Given the description of an element on the screen output the (x, y) to click on. 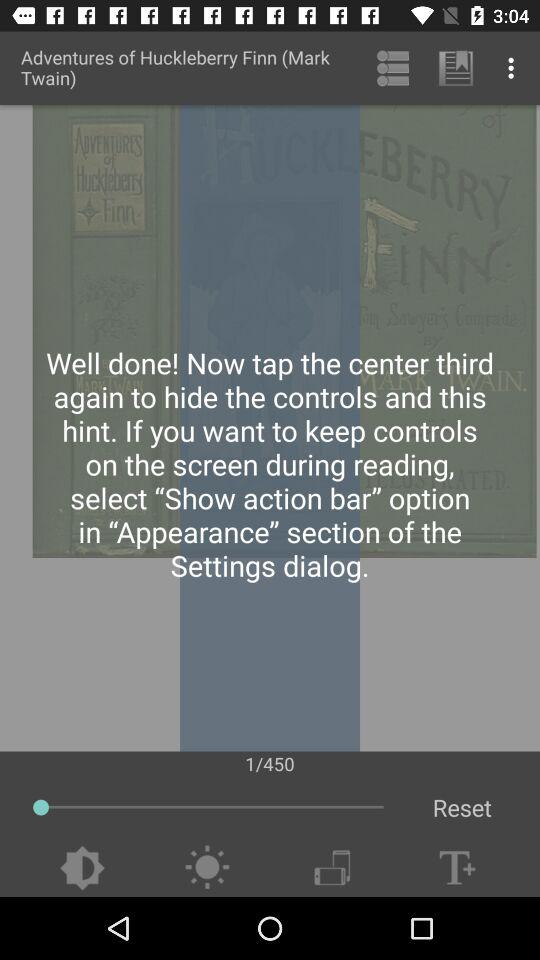
set font size (457, 867)
